Given the description of an element on the screen output the (x, y) to click on. 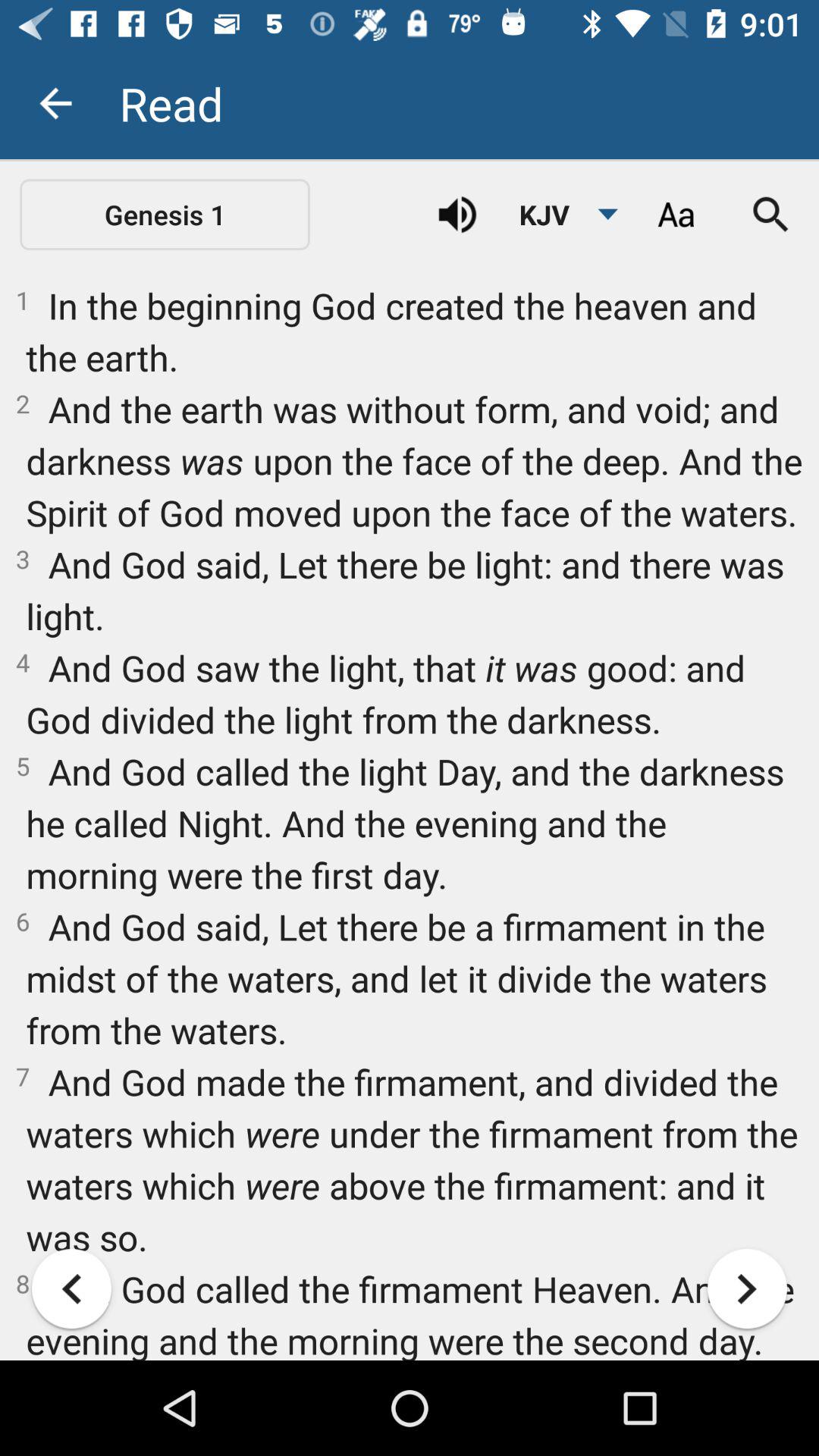
tap audio option (457, 214)
